Given the description of an element on the screen output the (x, y) to click on. 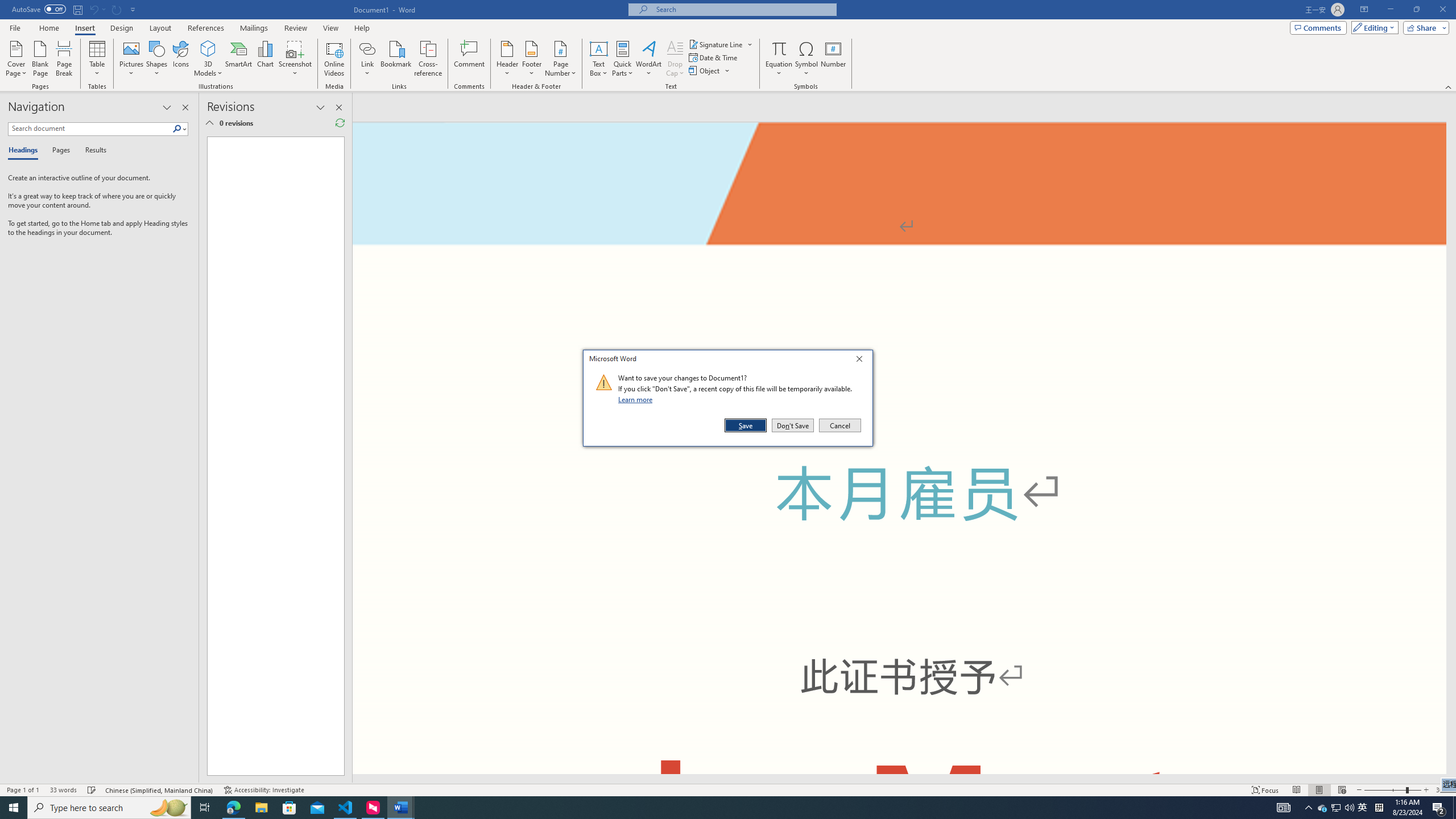
Cross-reference... (428, 58)
Object... (705, 69)
Comment (469, 58)
File Explorer (261, 807)
Equation (1362, 807)
Can't Undo (778, 48)
